Given the description of an element on the screen output the (x, y) to click on. 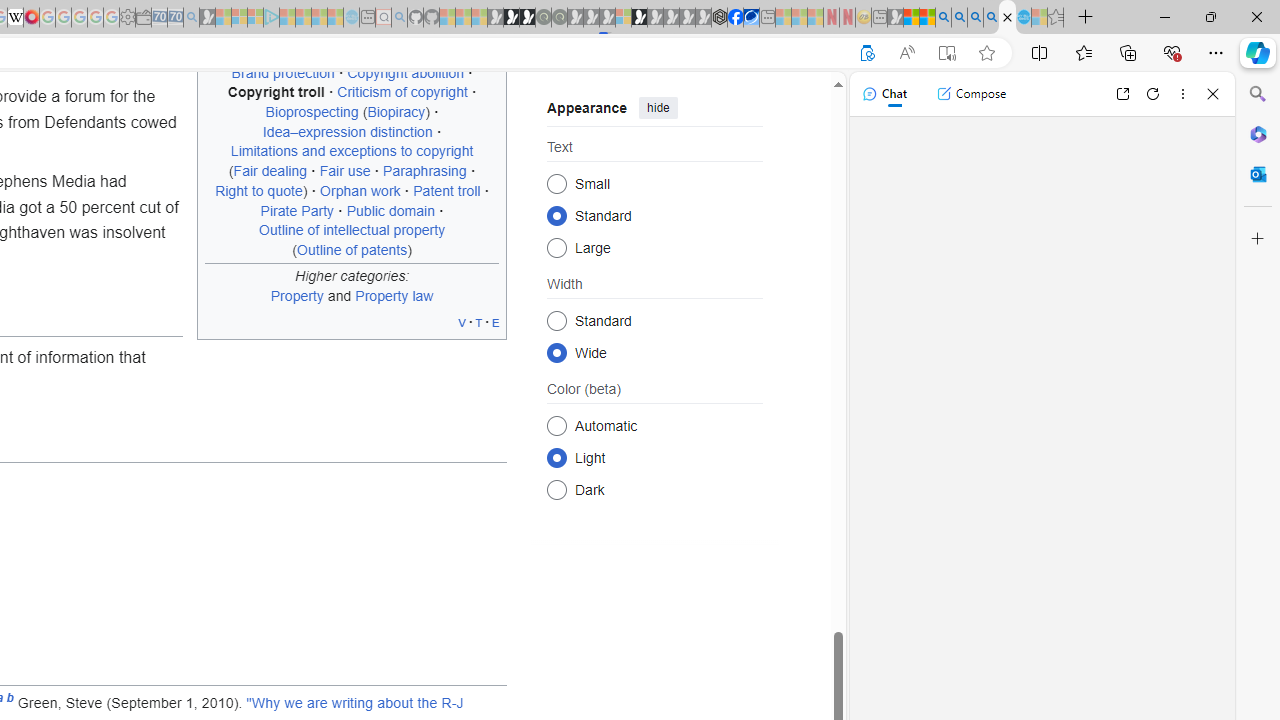
Nordace - Cooler Bags (719, 17)
Home | Sky Blue Bikes - Sky Blue Bikes - Sleeping (351, 17)
Biopiracy (396, 111)
v (462, 322)
Compose (971, 93)
Small (556, 182)
Brand protection (282, 72)
Wallet - Sleeping (143, 17)
Copilot (Ctrl+Shift+.) (1258, 52)
Open link in new tab (1122, 93)
Bioprospecting (311, 111)
Restore (1210, 16)
